Given the description of an element on the screen output the (x, y) to click on. 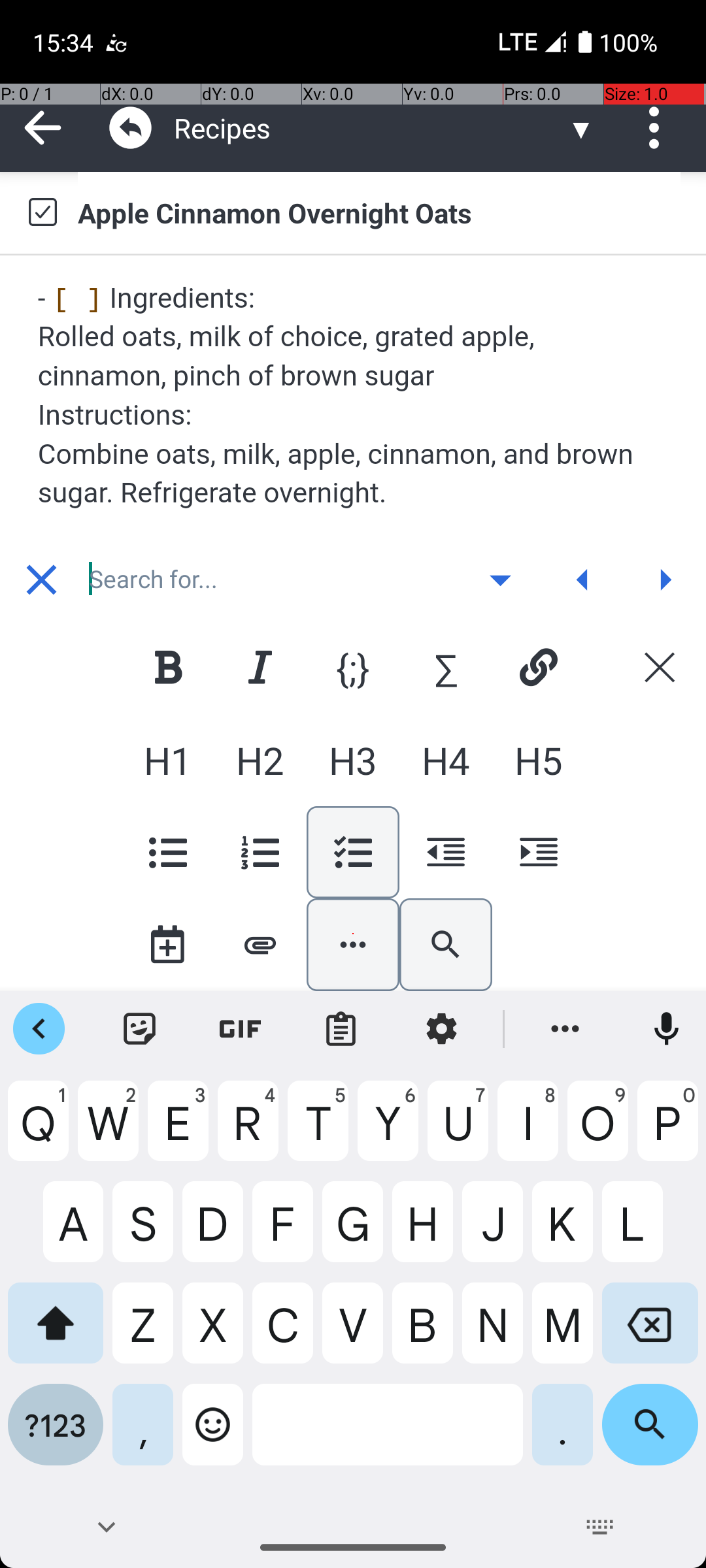
Apple Cinnamon Overnight Oats Element type: android.widget.EditText (378, 212)
Search for... Element type: android.widget.EditText (270, 579)
Show advanced Element type: android.widget.Button (499, 579)
Previous match Element type: android.widget.Button (582, 579)
Next match Element type: android.widget.Button (664, 579)
󰅖 Element type: android.widget.TextView (41, 579)
󰍝 Element type: android.widget.TextView (500, 579)
󰍞 Element type: android.widget.TextView (582, 579)
󰍟 Element type: android.widget.TextView (664, 579)
KaTeX Element type: android.widget.Button (445, 666)
Header 1 Element type: android.widget.Button (167, 759)
Header 2 Element type: android.widget.Button (259, 759)
Header 3 Element type: android.widget.Button (352, 759)
Header 4 Element type: android.widget.Button (445, 759)
Header 5 Element type: android.widget.Button (538, 759)
Decrease indent level Element type: android.widget.Button (445, 852)
Increase indent level Element type: android.widget.Button (538, 852)
Insert time Element type: android.widget.Button (167, 944)
Hide more actions Element type: android.widget.Button (352, 944)
Ingredients:
Rolled oats, milk of choice, grated apple, cinnamon, pinch of brown sugar
Instructions:
Combine oats, milk, apple, cinnamon, and brown sugar. Refrigerate overnight. Element type: android.widget.EditText (354, 395)
